Given the description of an element on the screen output the (x, y) to click on. 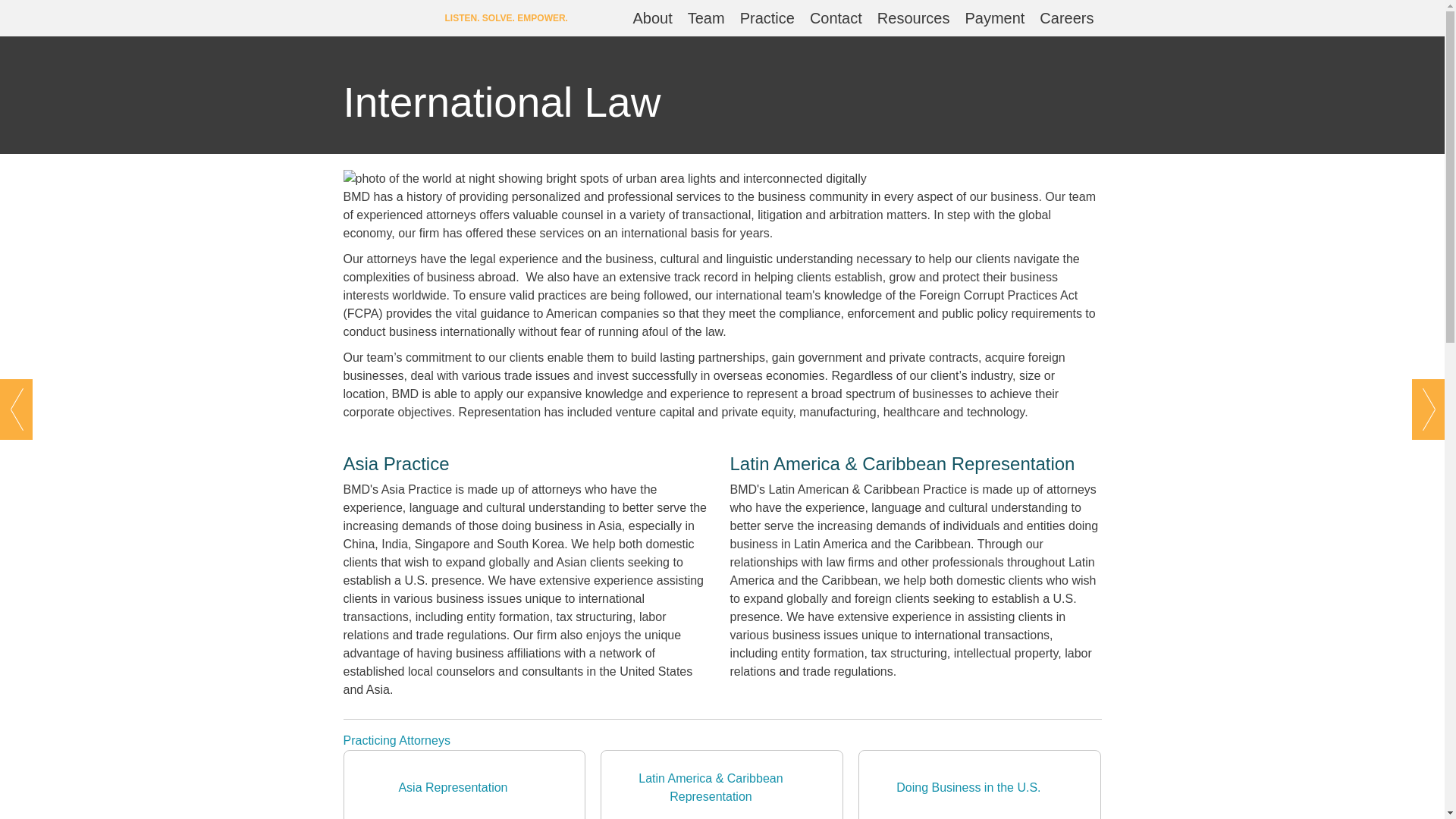
Contact (835, 18)
Resources (913, 18)
Asia Representation (463, 784)
Team (705, 18)
Payment (994, 18)
Doing Business in the U.S. (979, 784)
Practice (767, 18)
About (651, 18)
Careers (1066, 18)
Practicing Attorneys (395, 739)
